Given the description of an element on the screen output the (x, y) to click on. 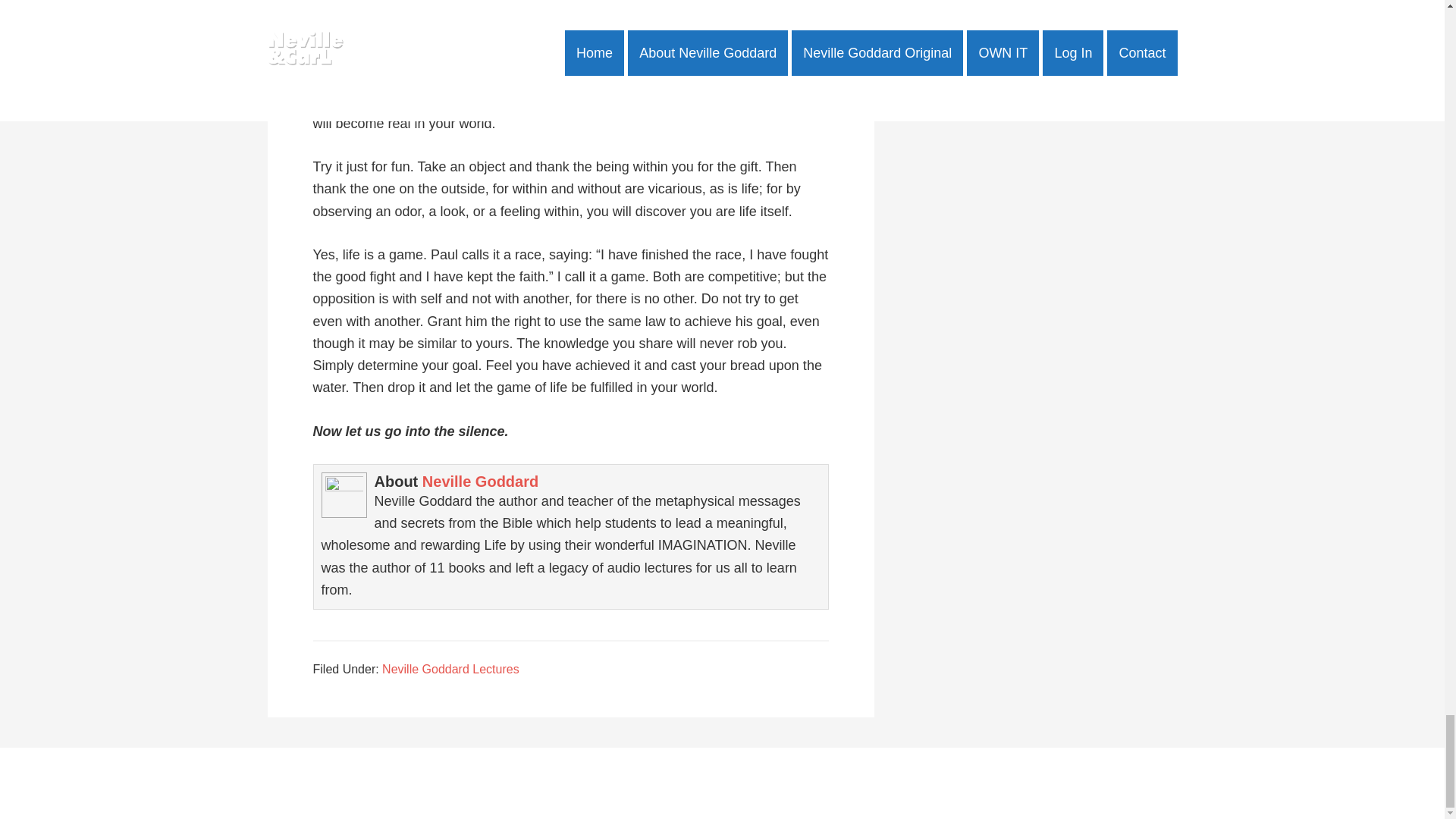
Neville Goddard Lectures (450, 668)
Cookies (977, 783)
Privacy (900, 783)
Neville Goddard Now. Lectures, books, audio, mp3, pdf (692, 783)
Disclaimer (852, 783)
Neville Goddard (480, 481)
Terms (937, 783)
